Given the description of an element on the screen output the (x, y) to click on. 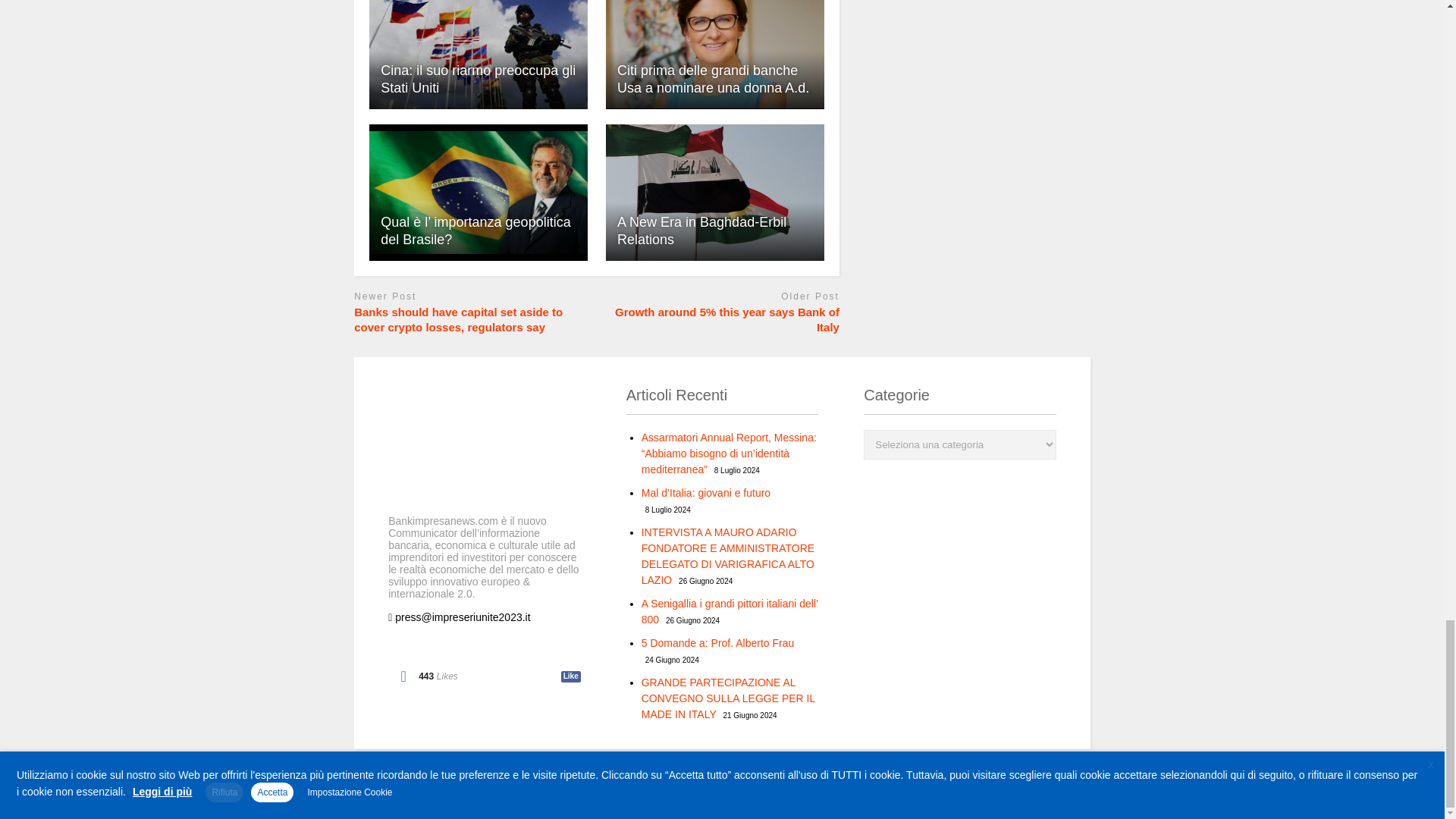
Click to read (478, 192)
Cina: il suo riarmo preoccupa gli Stati Uniti (478, 56)
Click to read (714, 54)
Citi prima delle grandi banche Usa a nominare una donna A.d. (714, 54)
Click to read (478, 54)
